Given the description of an element on the screen output the (x, y) to click on. 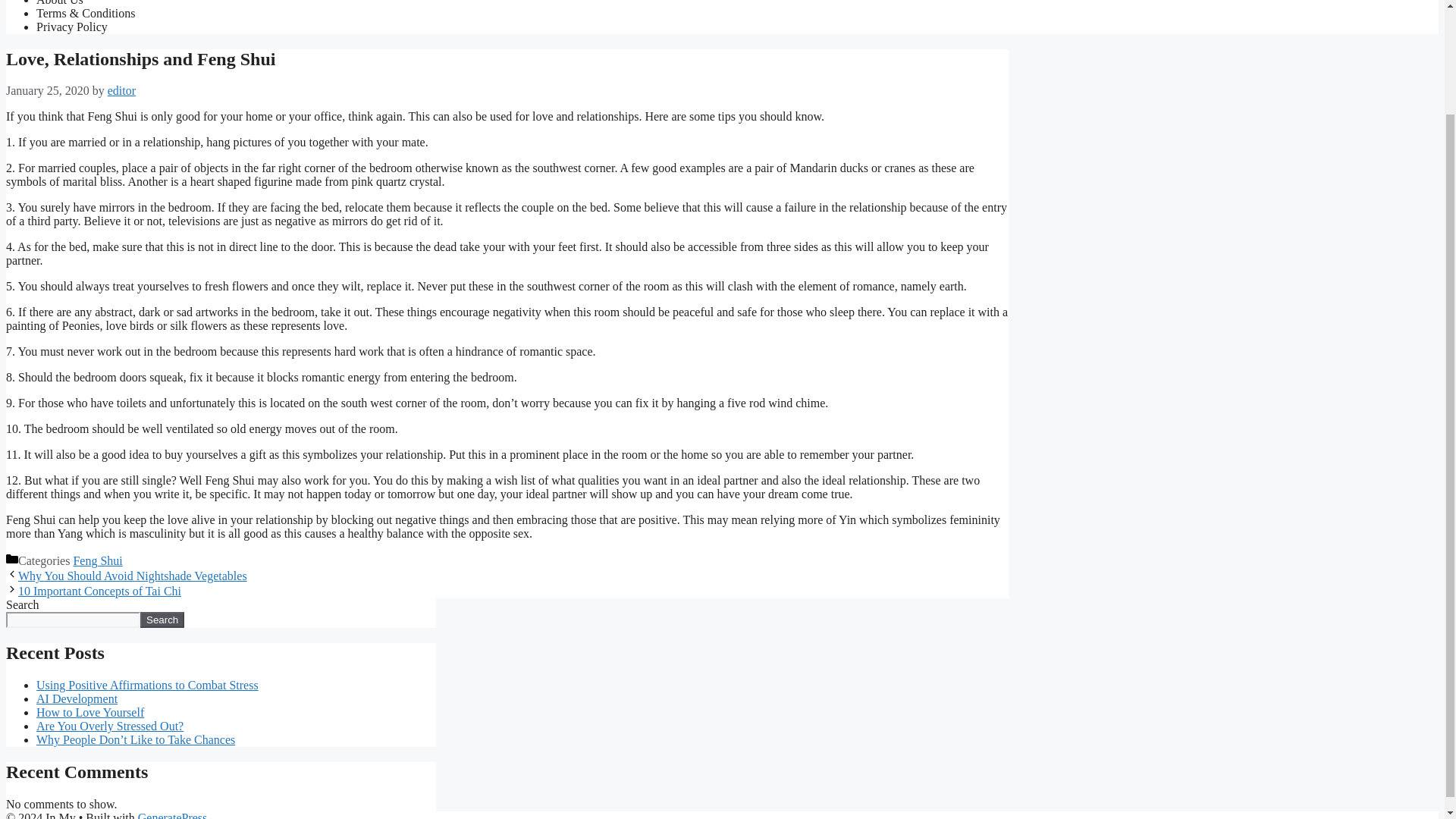
Feng Shui (97, 560)
Why You Should Avoid Nightshade Vegetables (132, 575)
View all posts by editor (121, 90)
Using Positive Affirmations to Combat Stress (147, 684)
Are You Overly Stressed Out? (109, 725)
Search (161, 619)
AI Development (76, 698)
How to Love Yourself (90, 712)
editor (121, 90)
10 Important Concepts of Tai Chi (98, 590)
About Us (59, 2)
Privacy Policy (71, 26)
